Given the description of an element on the screen output the (x, y) to click on. 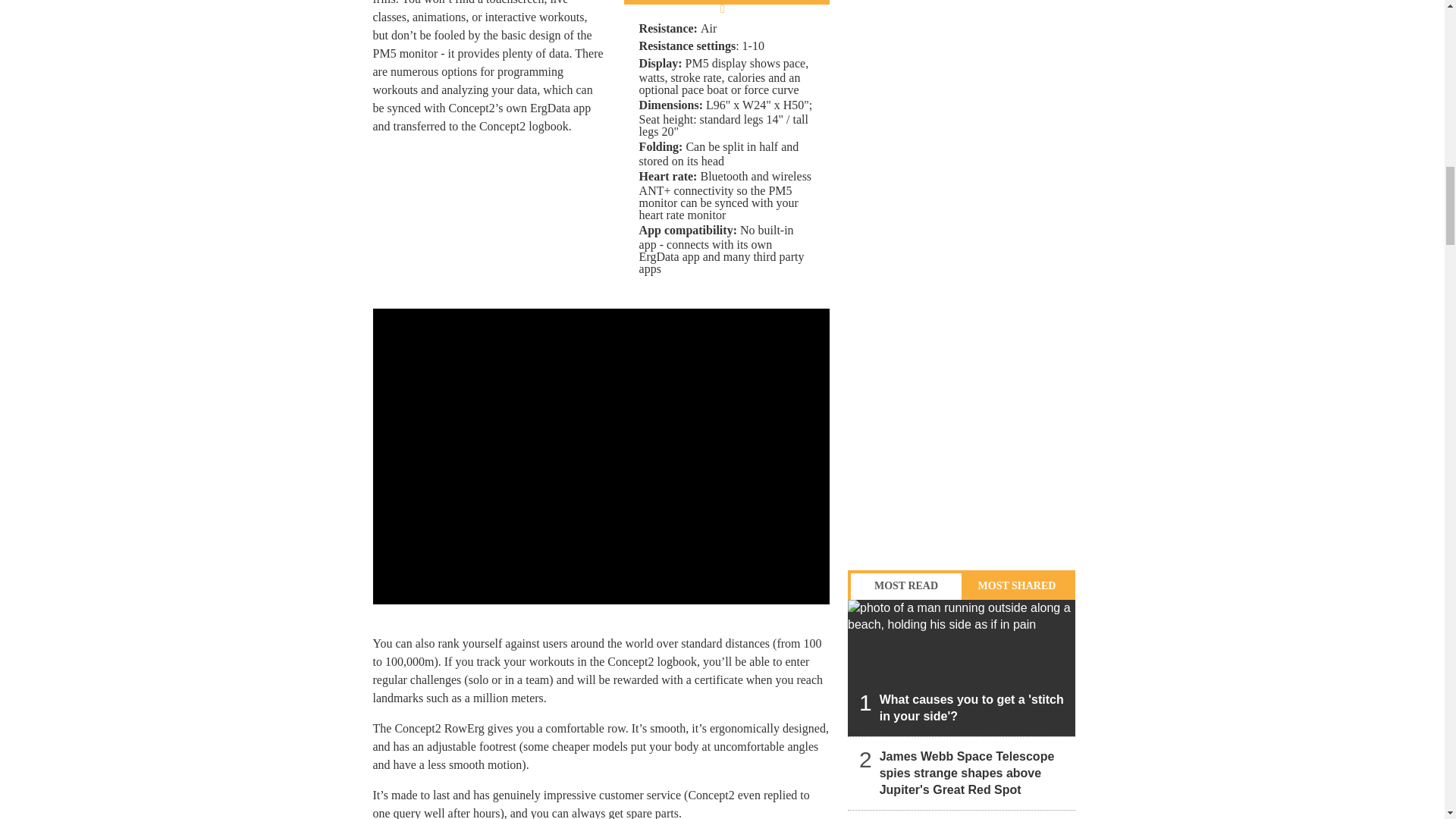
What causes you to get a 'stitch in your side'? (961, 666)
